Given the description of an element on the screen output the (x, y) to click on. 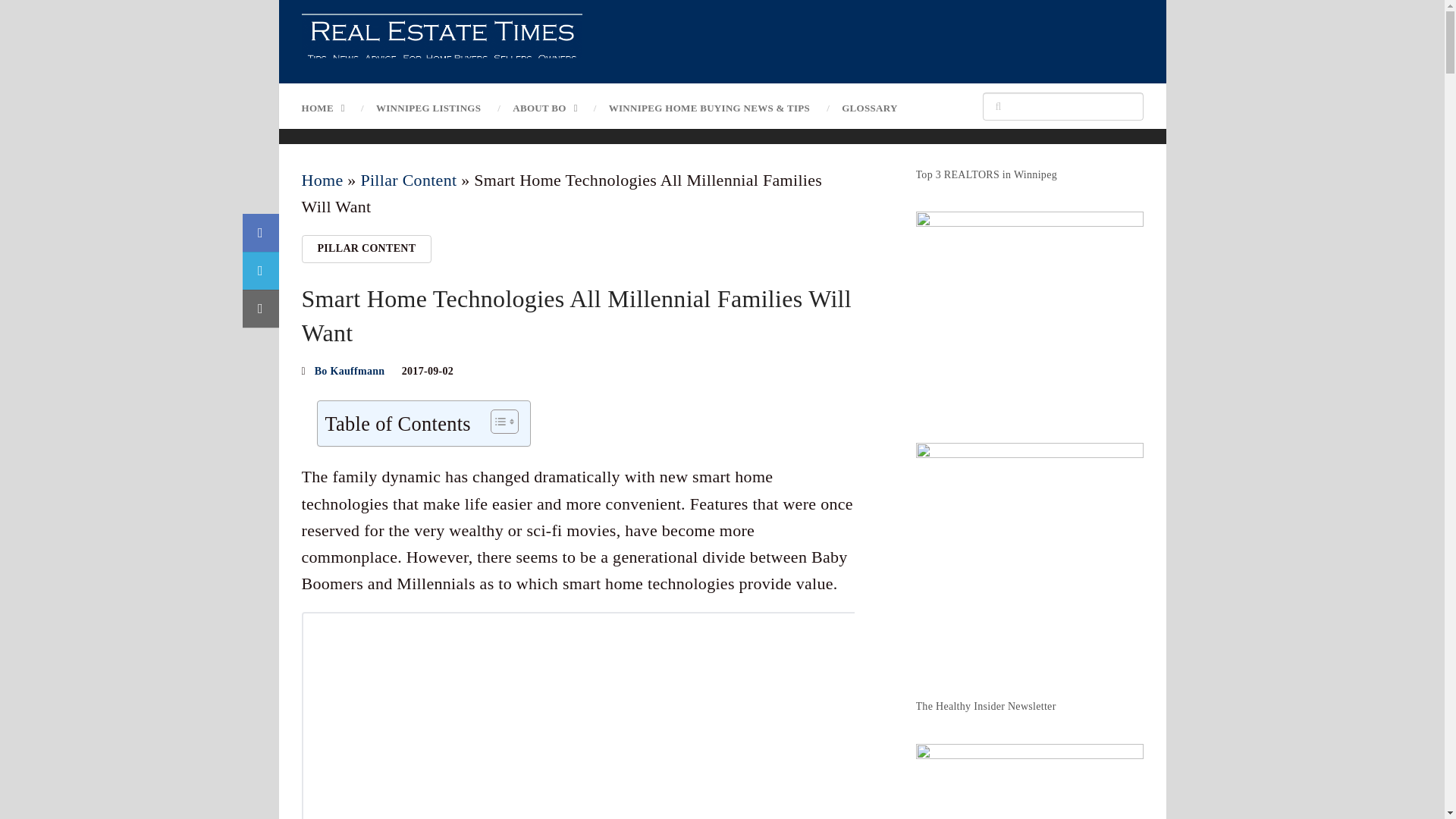
GLOSSARY (868, 108)
View all posts in Pillar Content (366, 248)
ABOUT BO (544, 108)
Pillar Content (408, 179)
Home (322, 179)
PILLAR CONTENT (366, 248)
Bo Kauffmann (349, 370)
Posts by Bo Kauffmann (349, 370)
HOME (330, 108)
WINNIPEG LISTINGS (427, 108)
